Given the description of an element on the screen output the (x, y) to click on. 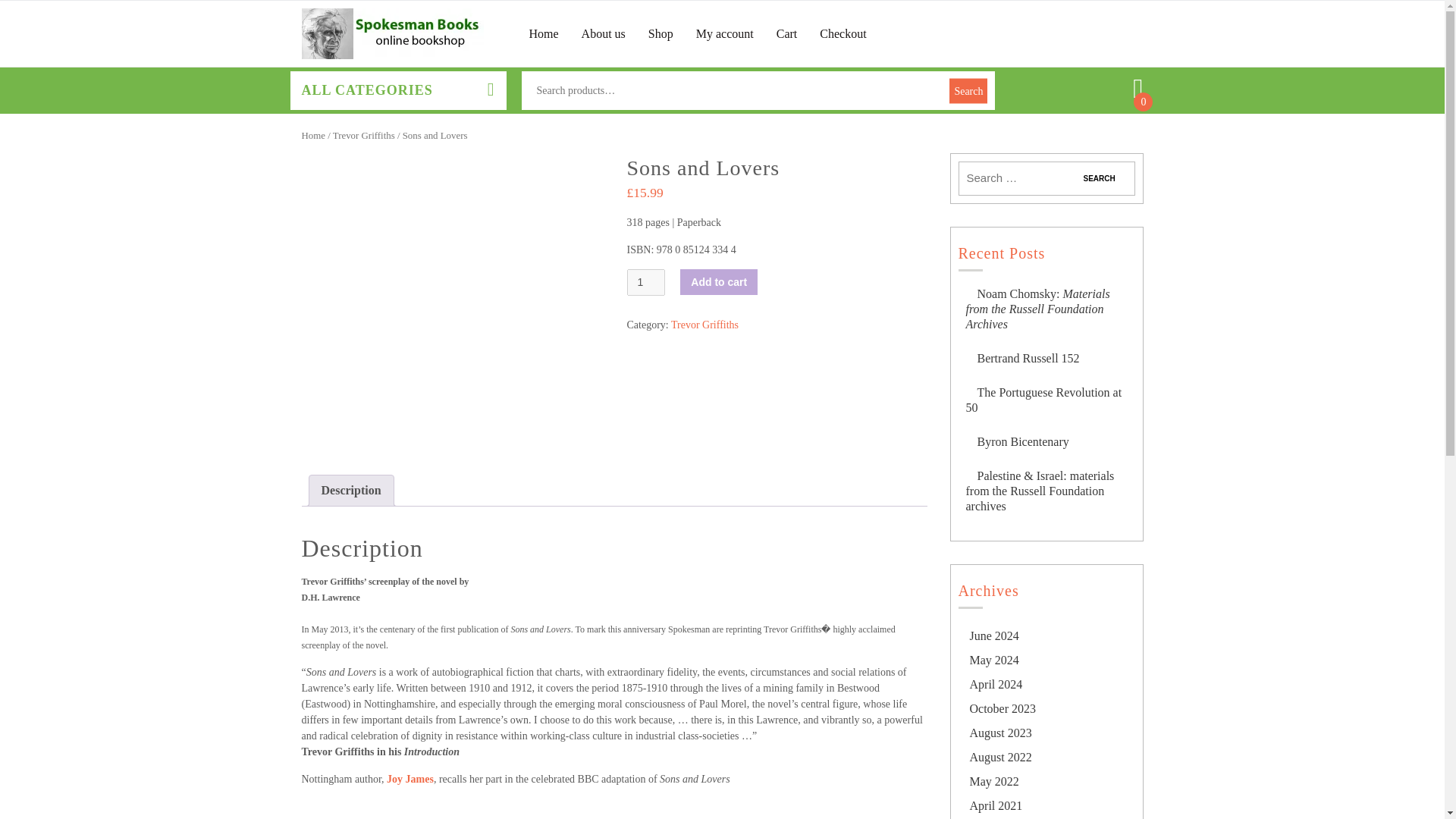
Cart (786, 33)
1 (645, 282)
Checkout (842, 33)
Shop (659, 33)
Home (544, 33)
Search (1099, 178)
About us (603, 33)
Search (1099, 178)
images (451, 303)
My account (724, 33)
